Given the description of an element on the screen output the (x, y) to click on. 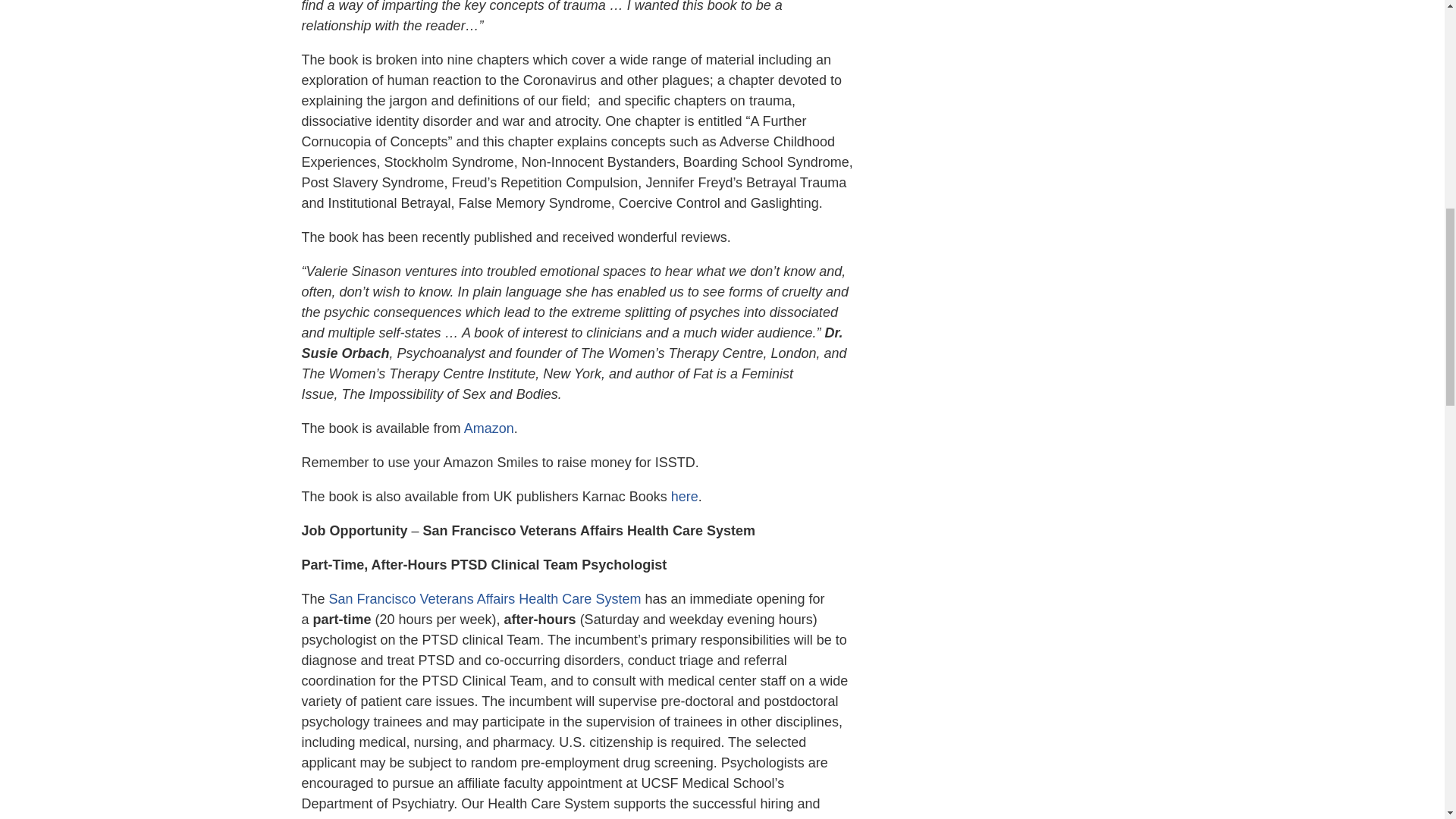
here (684, 496)
San Francisco Veterans Affairs Health Care System (485, 598)
Amazon (488, 427)
